Given the description of an element on the screen output the (x, y) to click on. 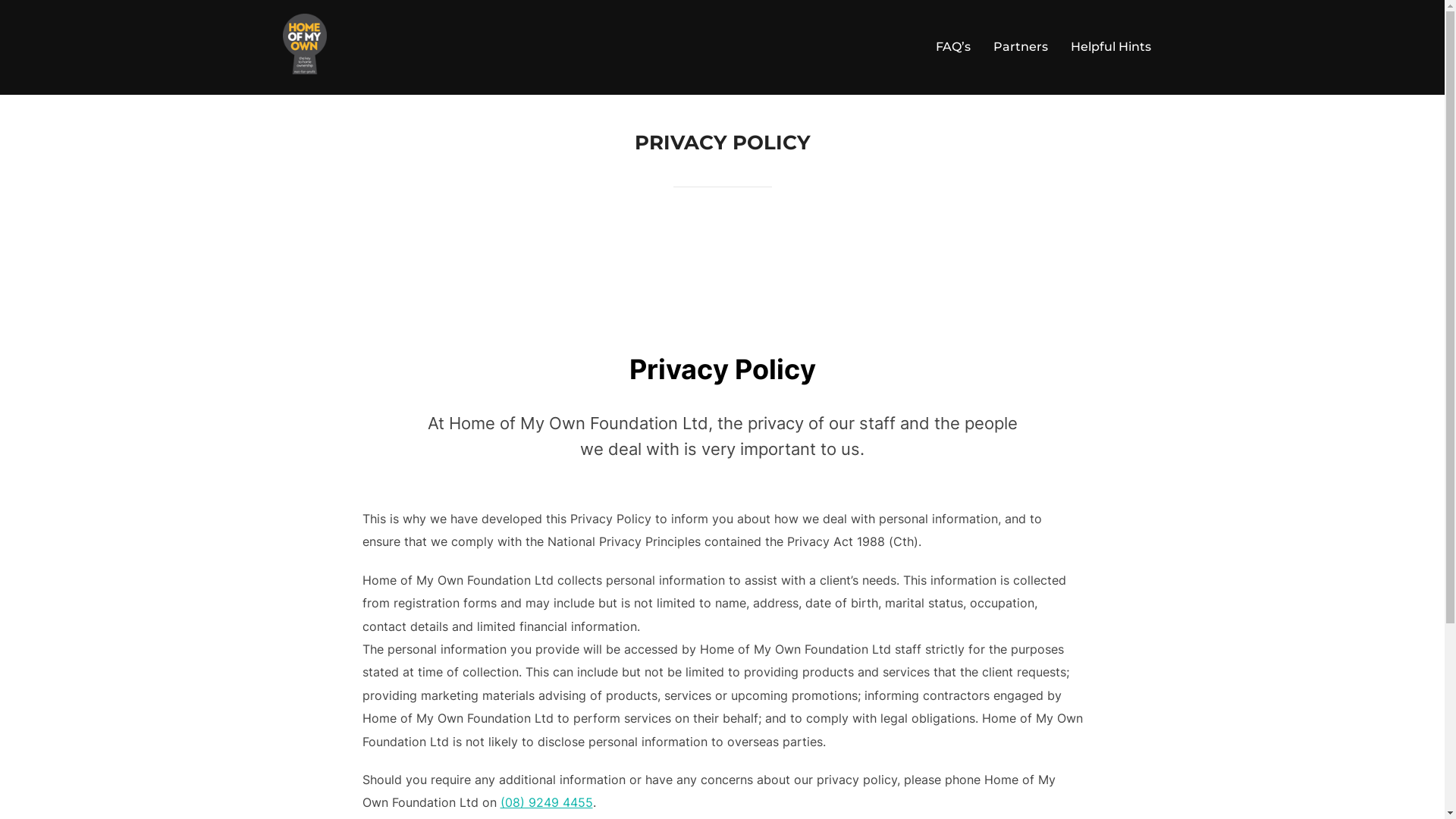
(08) 9249 4455 Element type: text (546, 801)
Partners Element type: text (1020, 46)
Helpful Hints Element type: text (1110, 46)
